Given the description of an element on the screen output the (x, y) to click on. 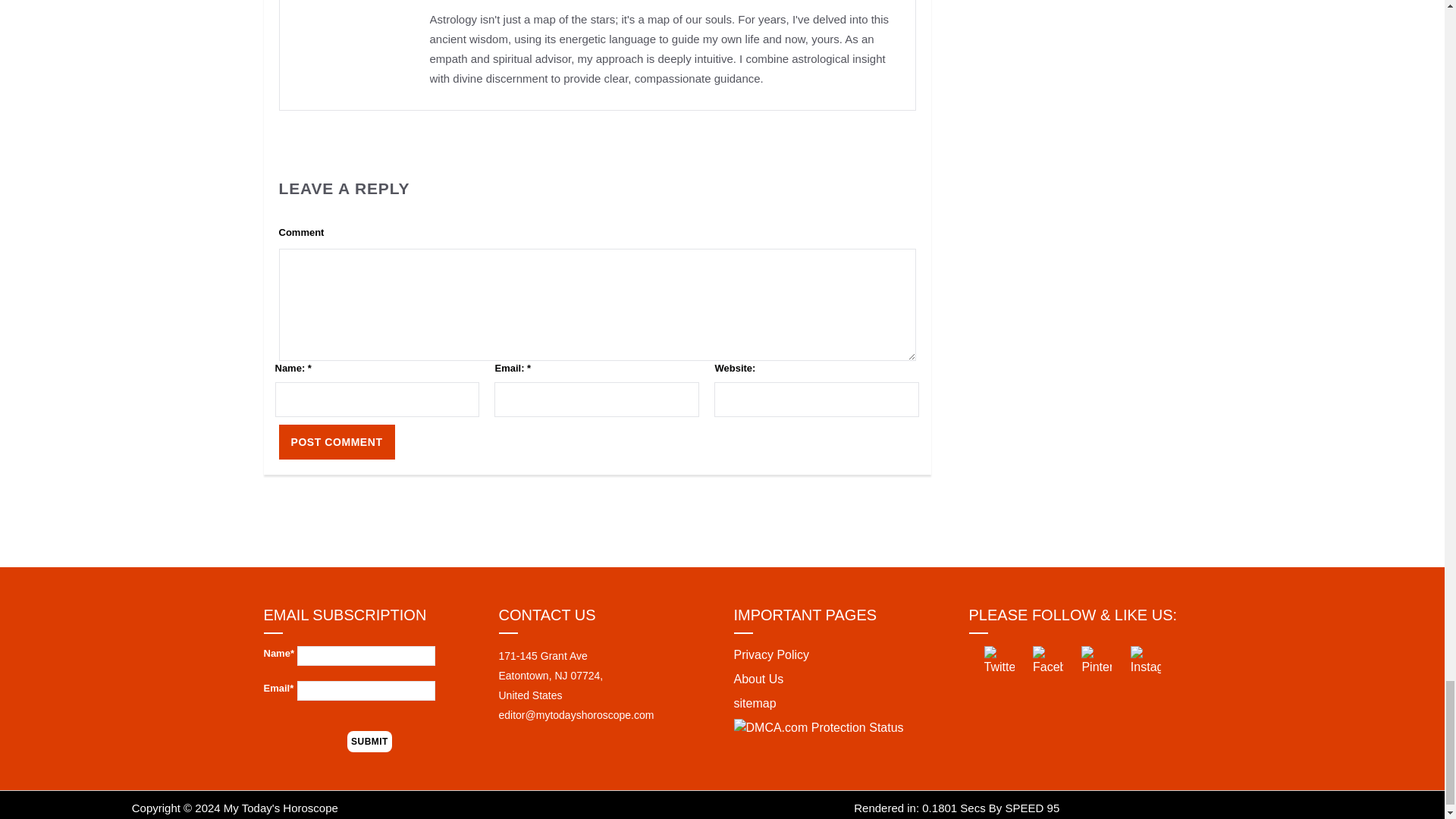
Pinterest (1096, 661)
Post Comment (336, 442)
Instagram (1145, 661)
Twitter (999, 661)
Facebook (1047, 661)
